Given the description of an element on the screen output the (x, y) to click on. 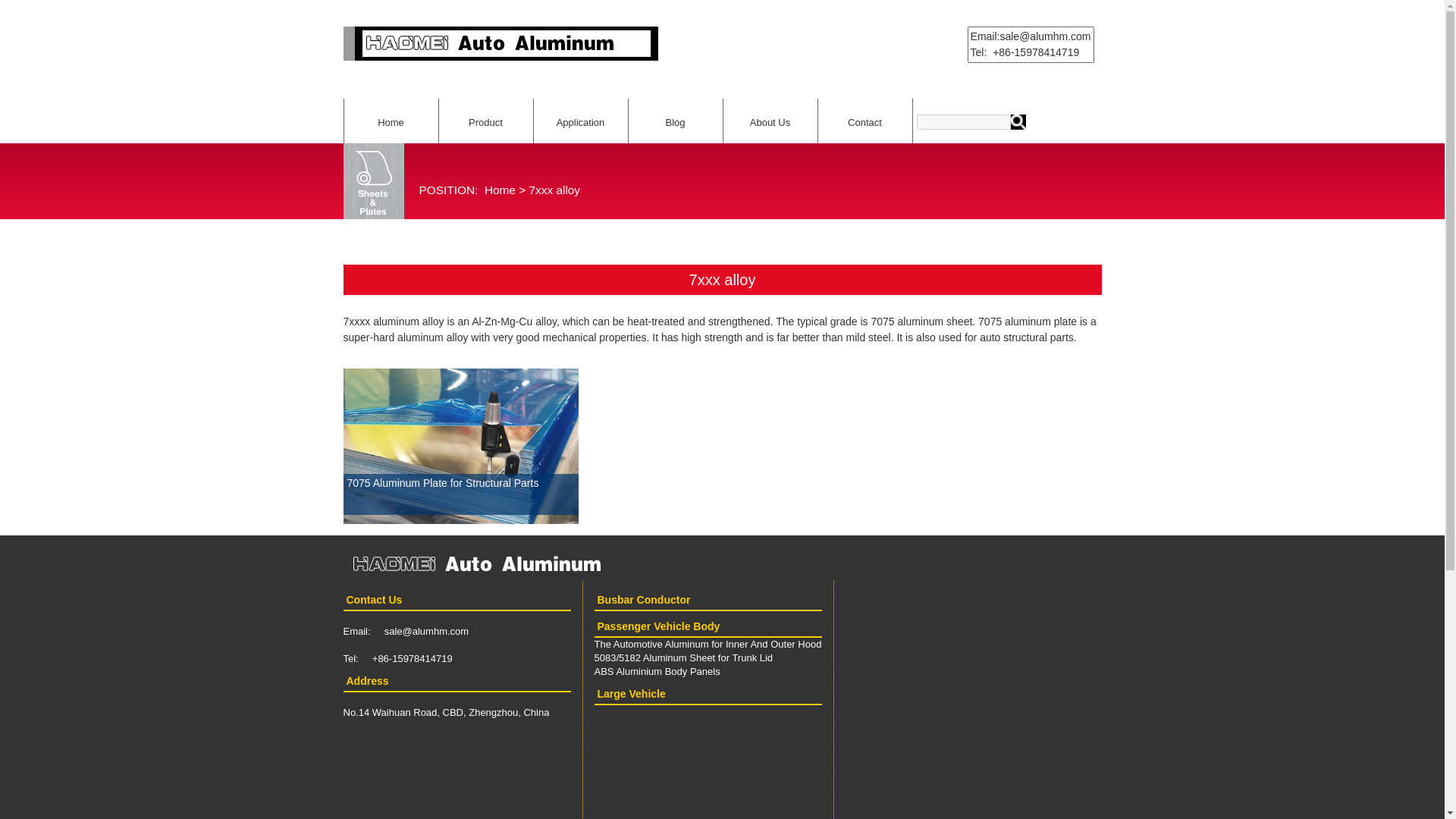
Product (485, 120)
Application (580, 120)
7075 Aluminum Plate for Structural Parts (460, 515)
7xxx alloy (553, 189)
Home (499, 189)
About Us (769, 120)
Home (390, 120)
Blog (674, 120)
The Automotive Aluminum for Inner And Outer Hood (708, 644)
ABS Aluminium Body Panels (657, 671)
Contact (863, 120)
